Given the description of an element on the screen output the (x, y) to click on. 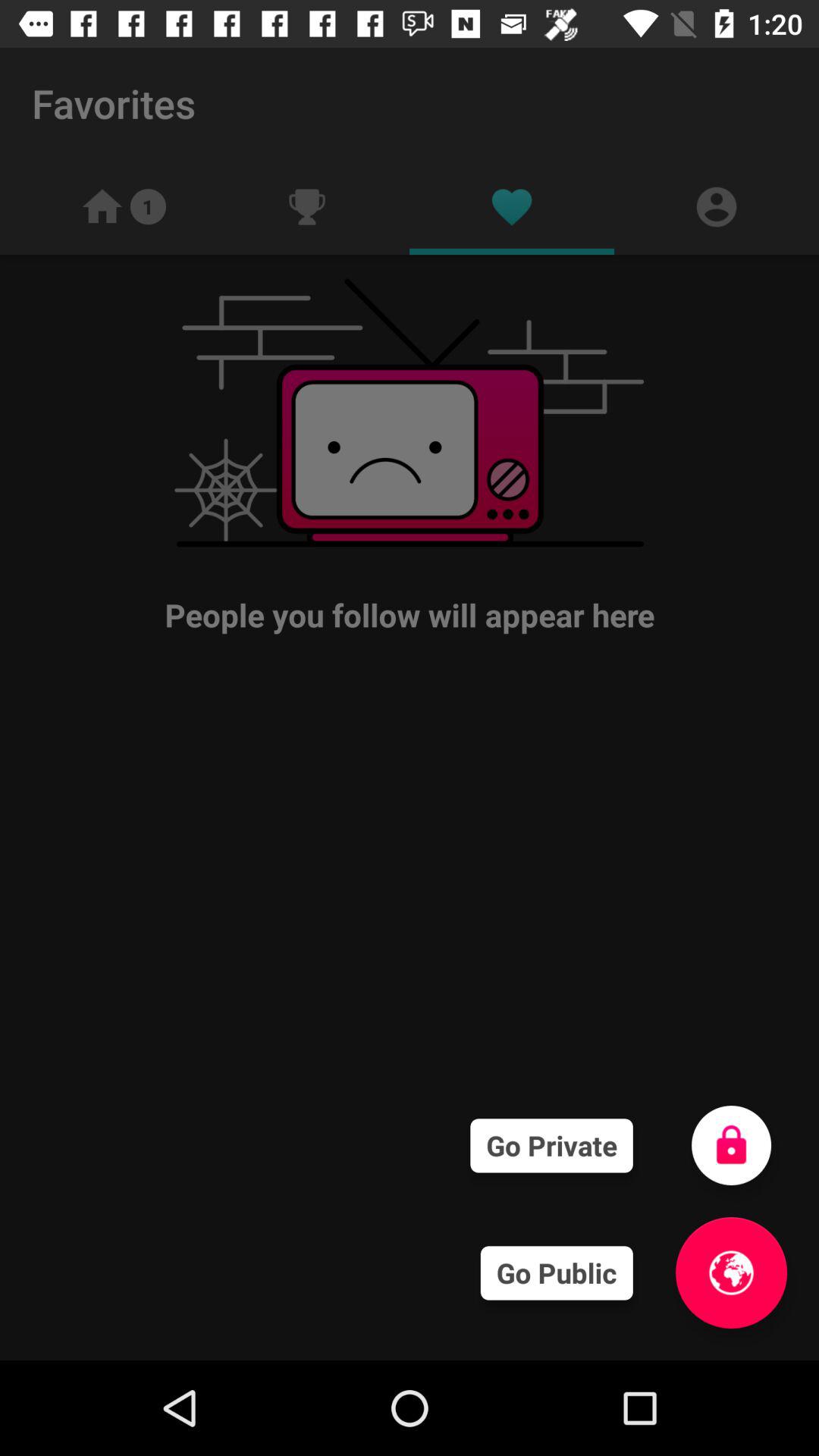
go private (731, 1145)
